Given the description of an element on the screen output the (x, y) to click on. 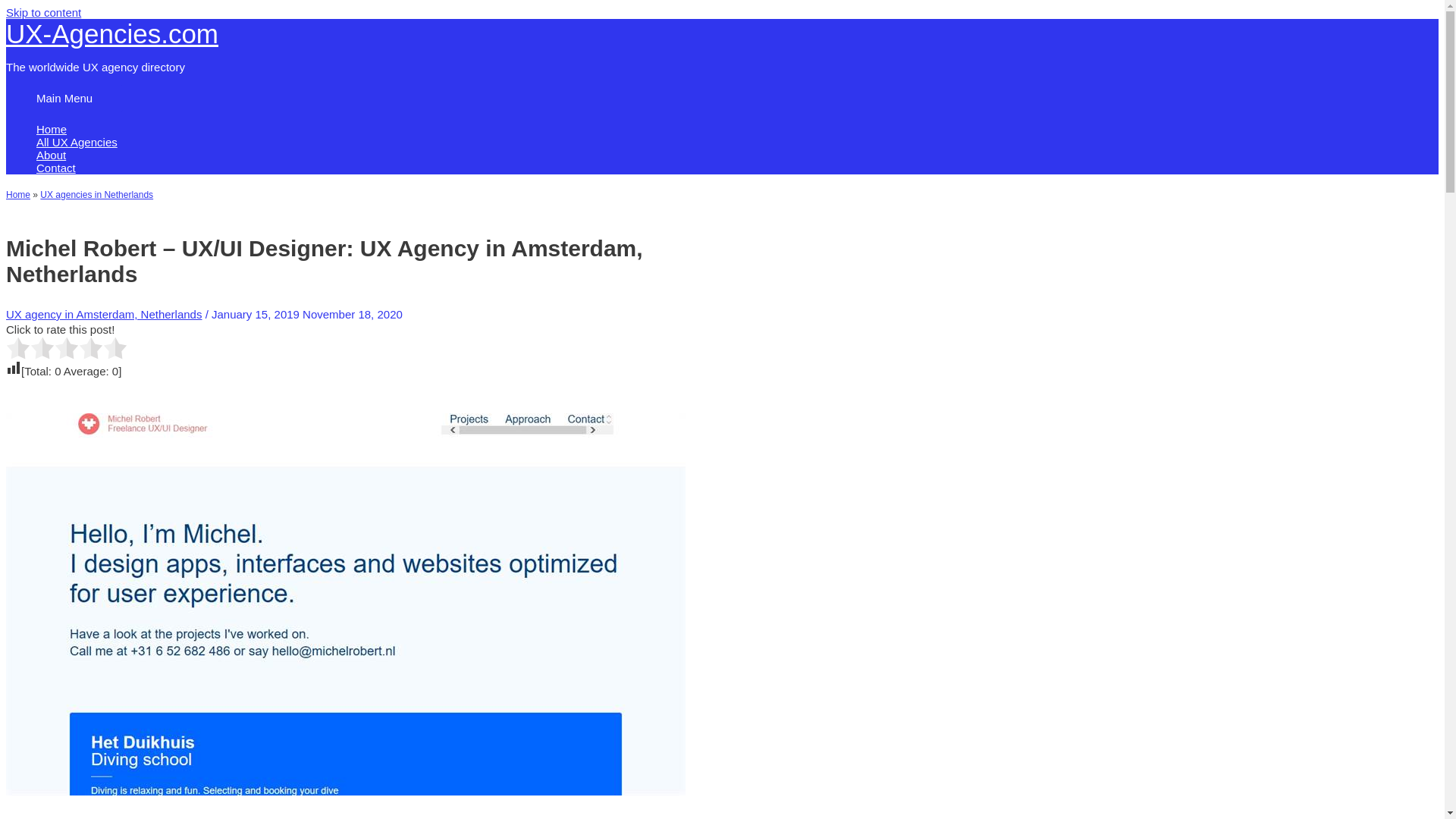
Contact (491, 167)
UX agencies in Netherlands (96, 194)
Skip to content (43, 11)
All UX Agencies (491, 141)
Home (17, 194)
Main Menu (63, 98)
About (491, 154)
UX agency in Amsterdam, Netherlands (103, 314)
UX-Agencies.com (111, 33)
Home (491, 128)
